Given the description of an element on the screen output the (x, y) to click on. 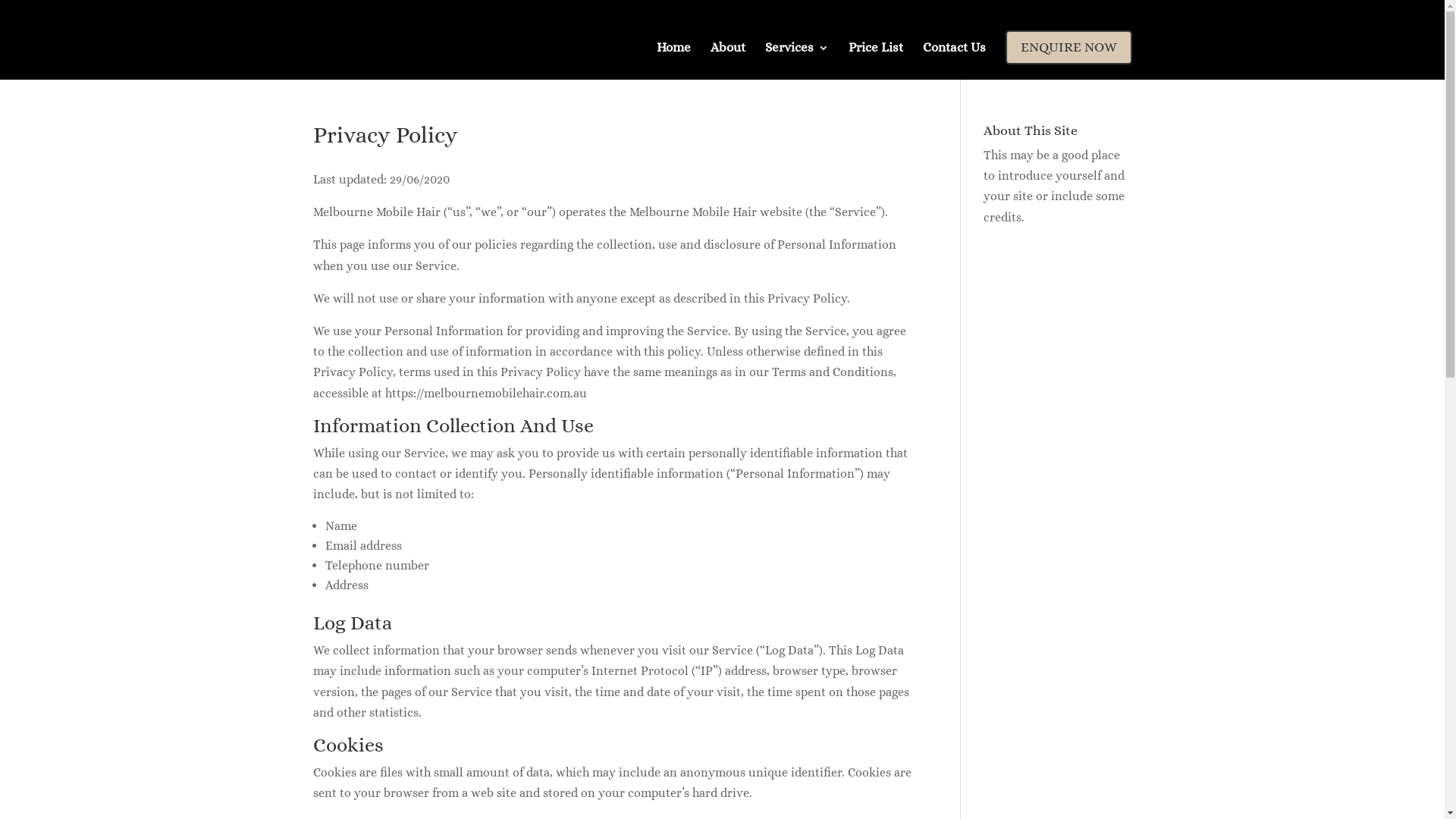
Price List Element type: text (874, 55)
Home Element type: text (673, 55)
ENQUIRE NOW Element type: text (1068, 47)
Contact Us Element type: text (953, 55)
Services Element type: text (796, 55)
About Element type: text (726, 55)
